Given the description of an element on the screen output the (x, y) to click on. 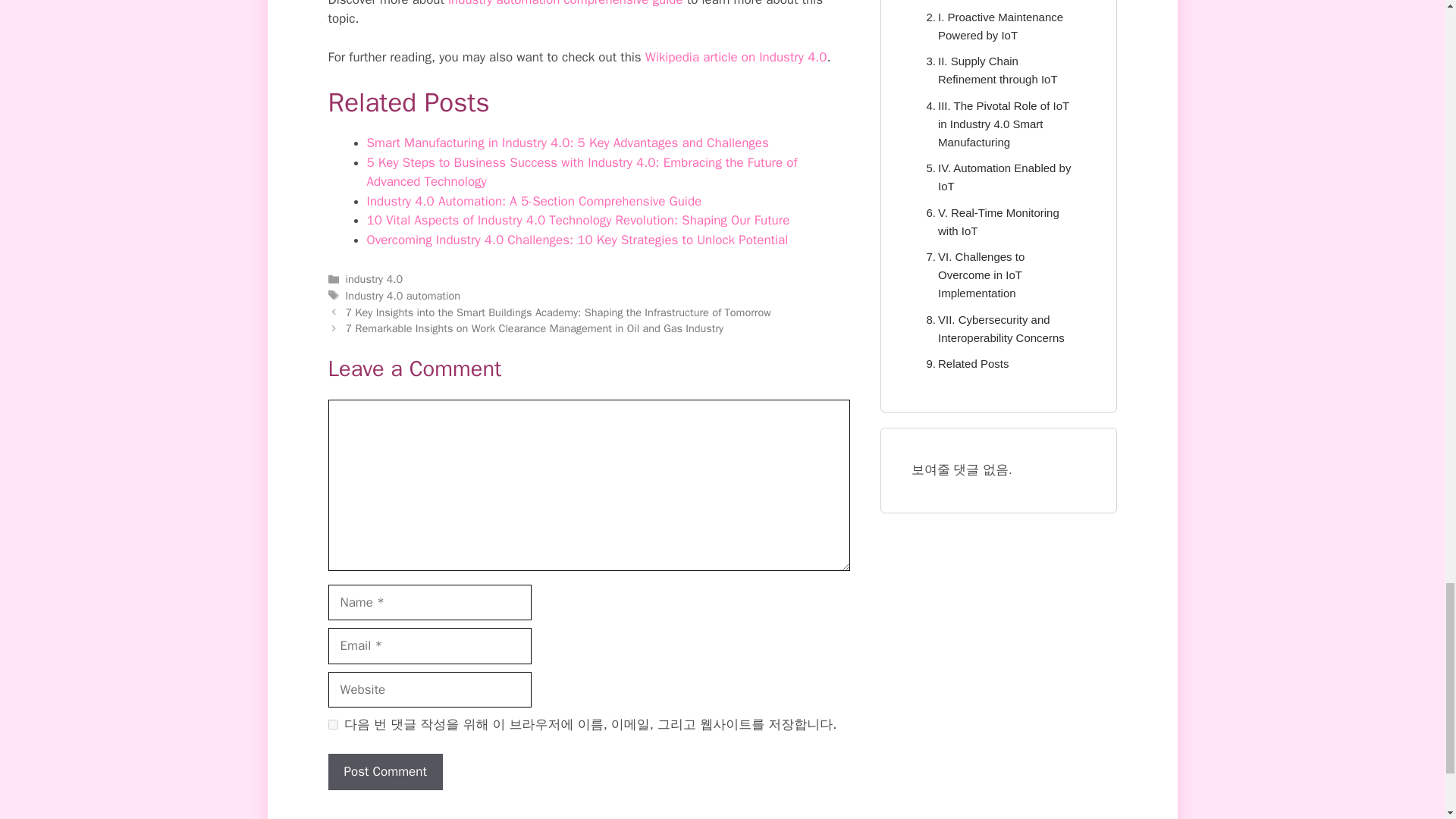
industry 4.0 (374, 278)
IV. Automation Enabled by IoT (998, 176)
Industry 4.0 automation (403, 295)
yes (332, 724)
Industry 4.0 Automation: A 5-Section Comprehensive Guide (533, 201)
Post Comment (384, 771)
Post Comment (384, 771)
Wikipedia article on Industry 4.0 (736, 57)
